Given the description of an element on the screen output the (x, y) to click on. 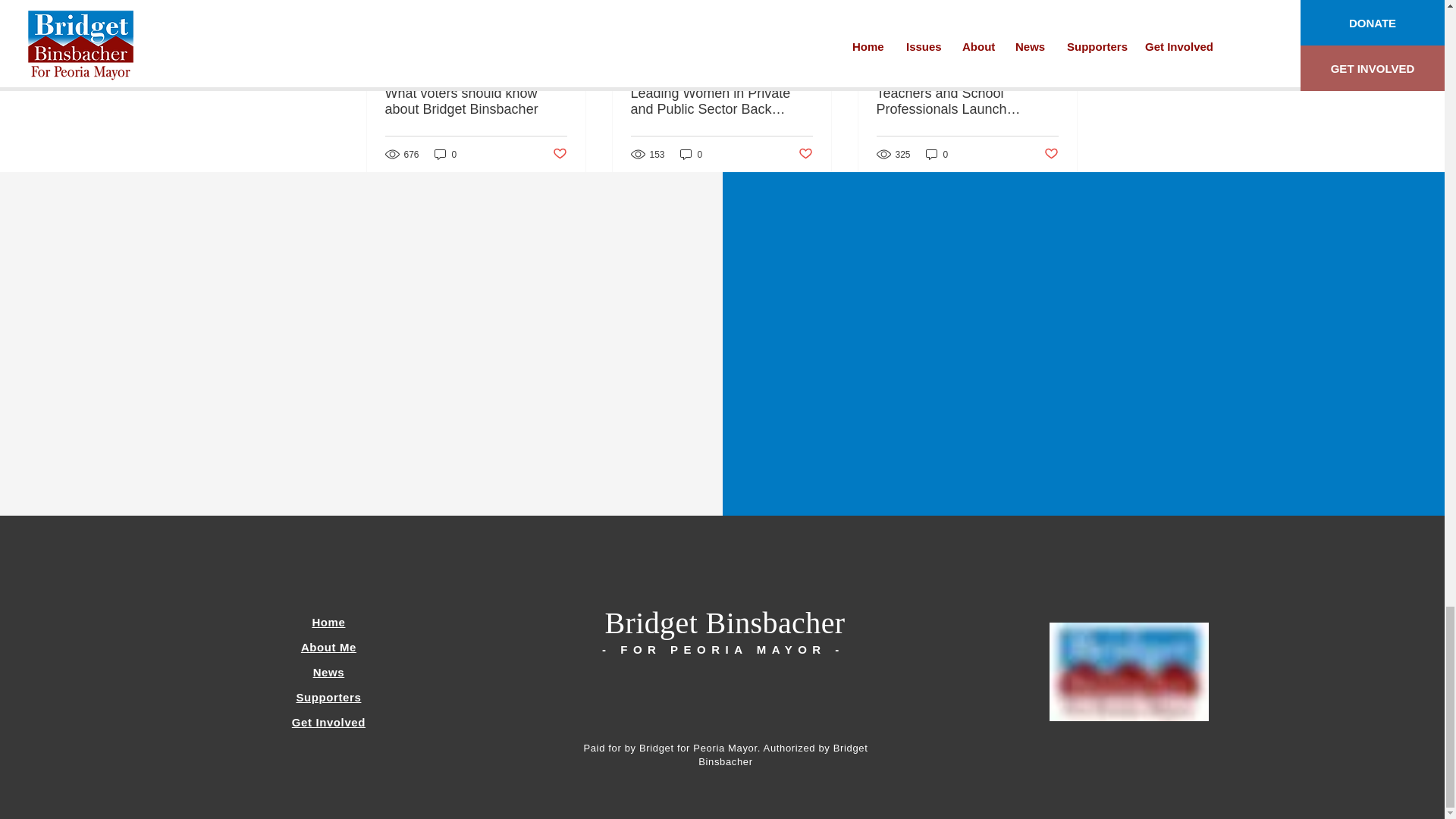
Post not marked as liked (558, 154)
About Me (328, 646)
0 (691, 154)
0 (445, 154)
Home (328, 621)
What voters should know about Bridget Binsbacher (476, 101)
Post not marked as liked (804, 154)
Get Involved (328, 721)
0 (937, 154)
Leading Women in Private and Public Sector Back Binsbacher (721, 101)
Post not marked as liked (1050, 154)
News (329, 671)
Supporters (328, 697)
